Given the description of an element on the screen output the (x, y) to click on. 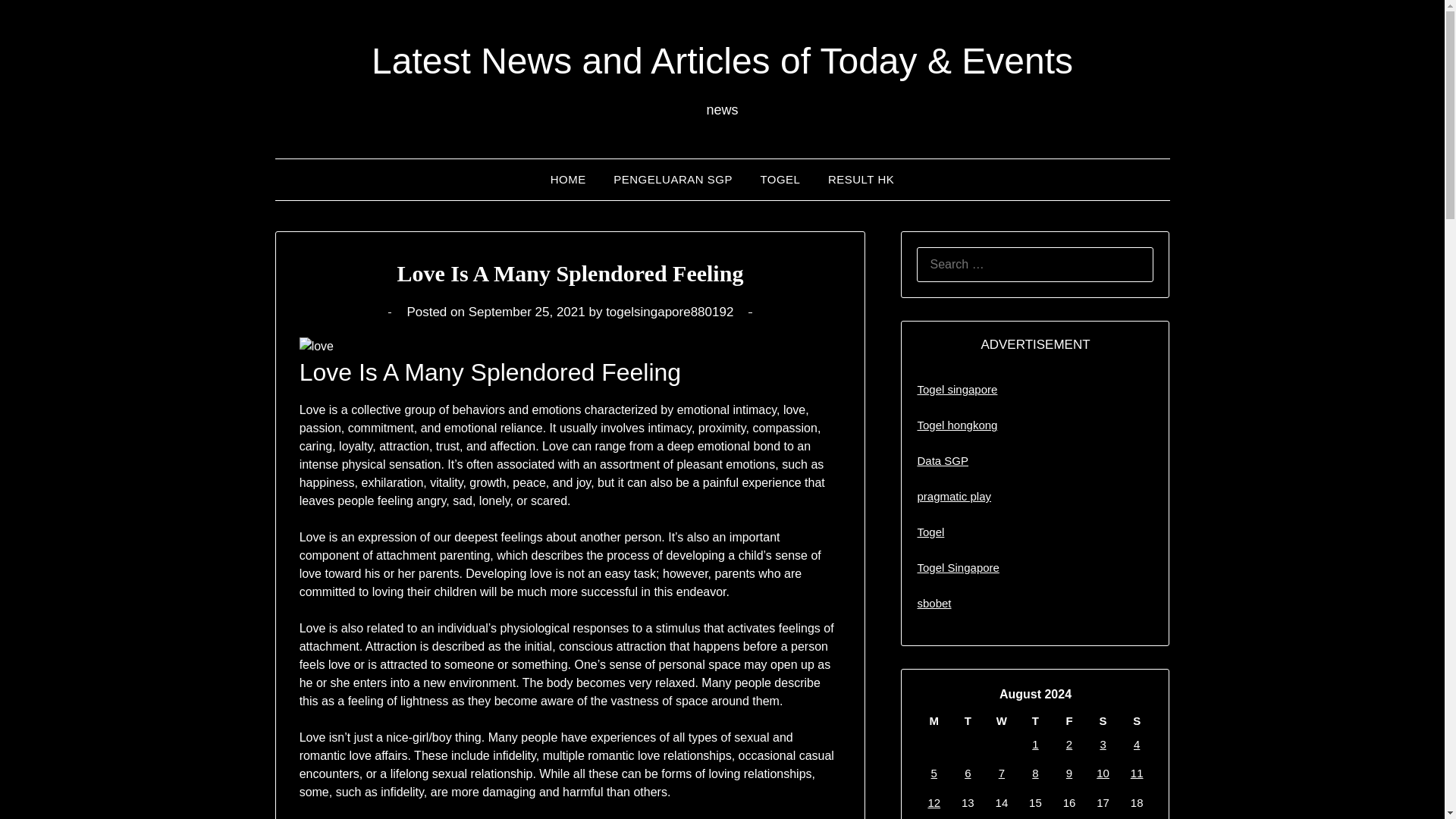
Thursday (1034, 720)
11 (1136, 772)
togelsingapore880192 (669, 311)
HOME (568, 178)
Togel Singapore (957, 567)
Tuesday (967, 720)
Togel singapore (957, 389)
Monday (933, 720)
Togel (930, 531)
Friday (1069, 720)
